Given the description of an element on the screen output the (x, y) to click on. 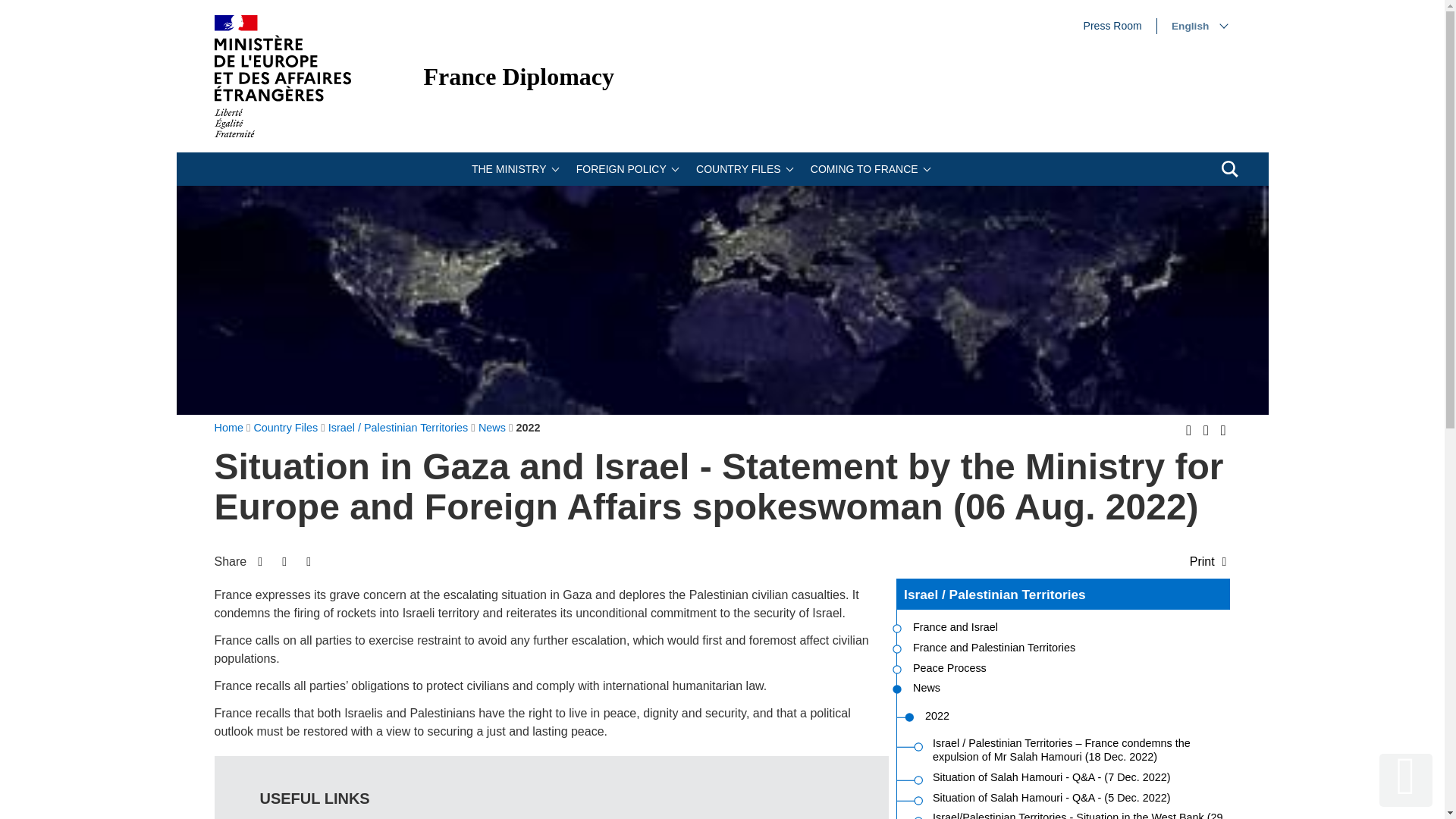
France Diplomacy (518, 76)
Back home France Diplomatie (282, 76)
THE MINISTRY (1112, 26)
Increase text size (513, 168)
Add our RSS feed (1187, 431)
FOREIGN POLICY (1222, 431)
Decrease text size (625, 168)
